Given the description of an element on the screen output the (x, y) to click on. 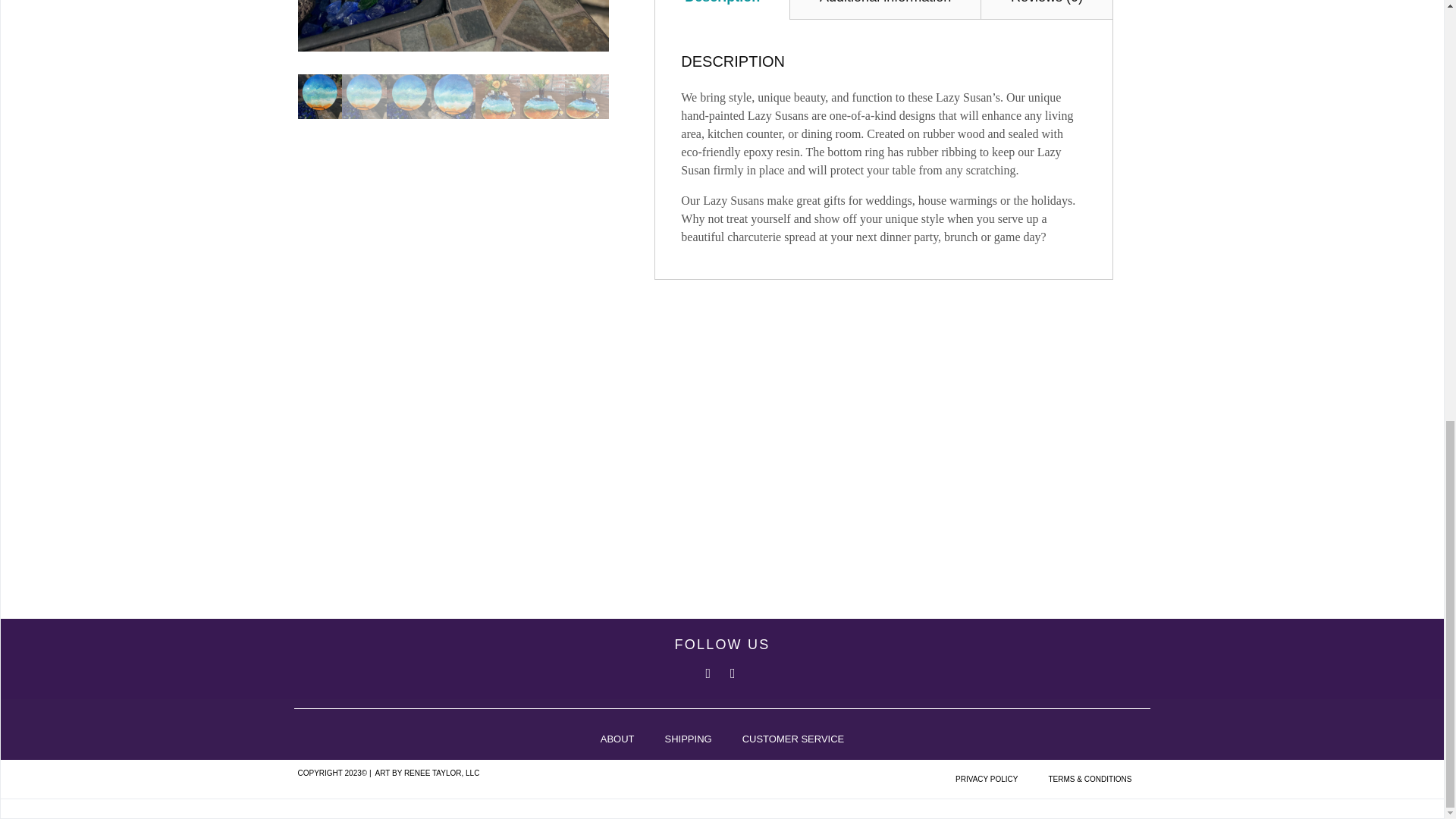
Kokomo revised (452, 25)
Kokomo revised (764, 25)
